Given the description of an element on the screen output the (x, y) to click on. 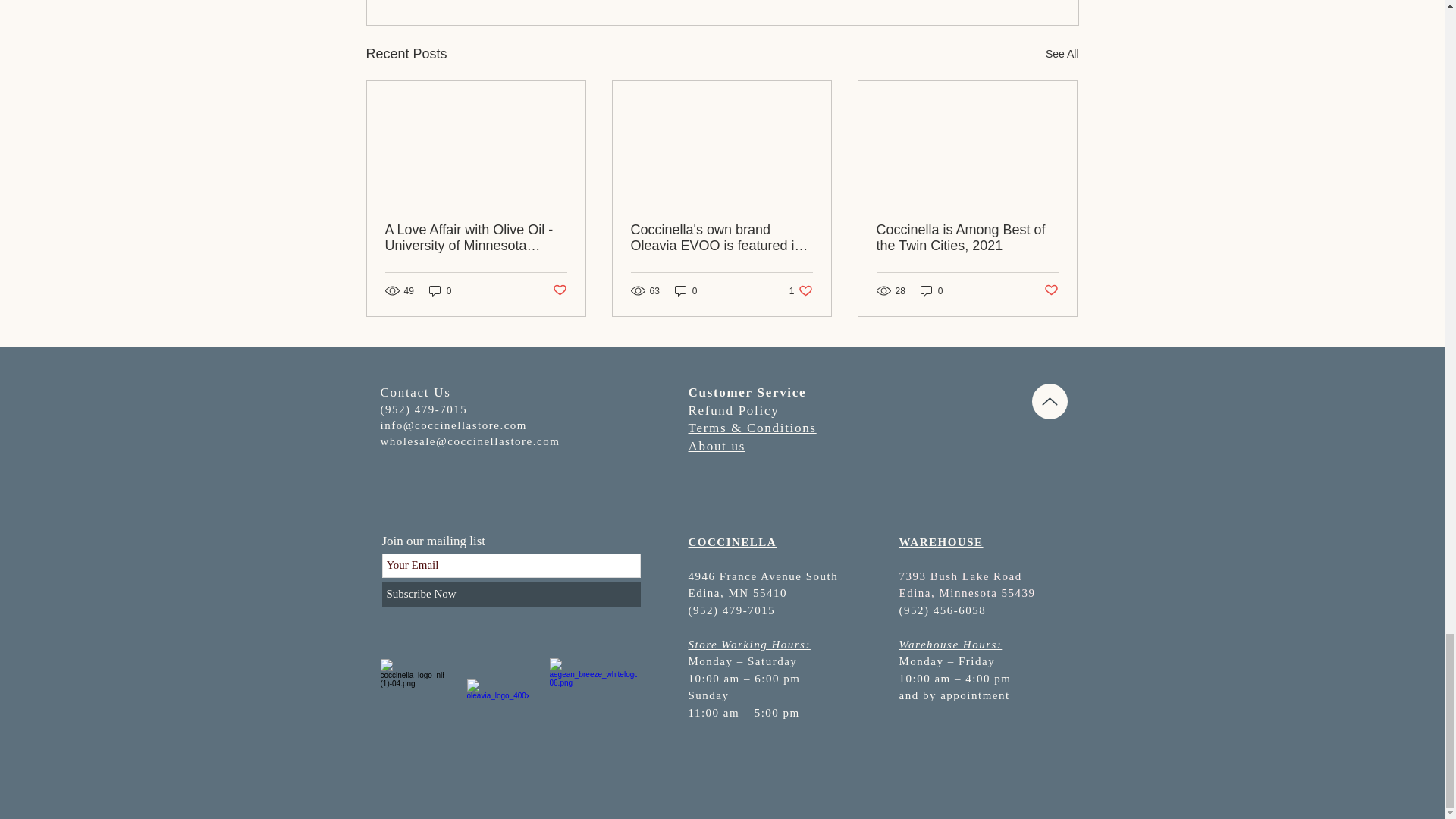
Coccinella is Among Best of the Twin Cities, 2021 (967, 237)
0 (440, 290)
See All (1061, 54)
Post not marked as liked (800, 290)
0 (558, 290)
